Given the description of an element on the screen output the (x, y) to click on. 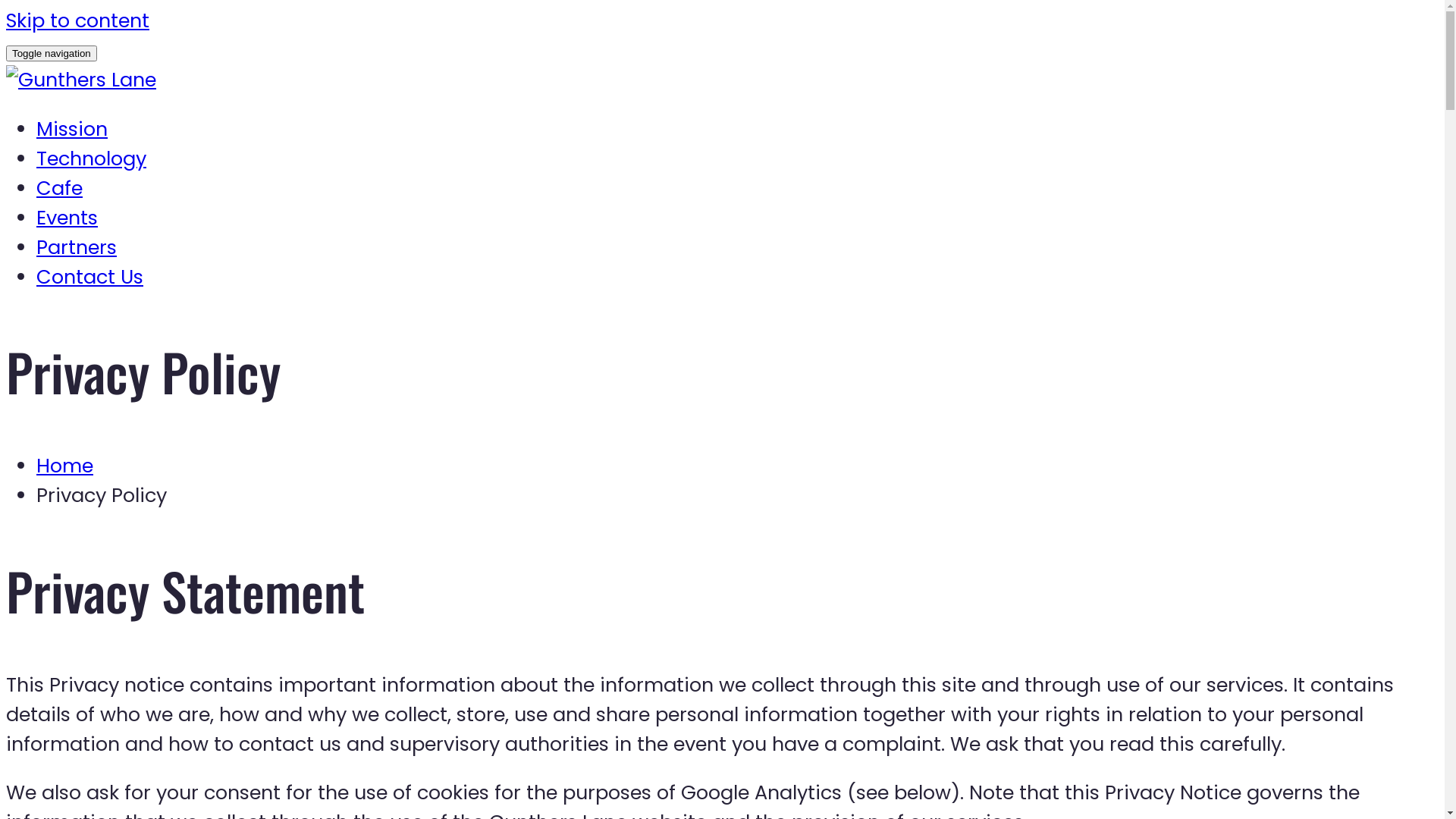
Skip to content Element type: text (77, 20)
Events Element type: text (66, 217)
Contact Us Element type: text (89, 276)
Mission Element type: text (71, 128)
Toggle navigation Element type: text (51, 53)
Cafe Element type: text (59, 187)
Home Element type: text (64, 465)
Technology Element type: text (91, 158)
Partners Element type: text (76, 246)
